Given the description of an element on the screen output the (x, y) to click on. 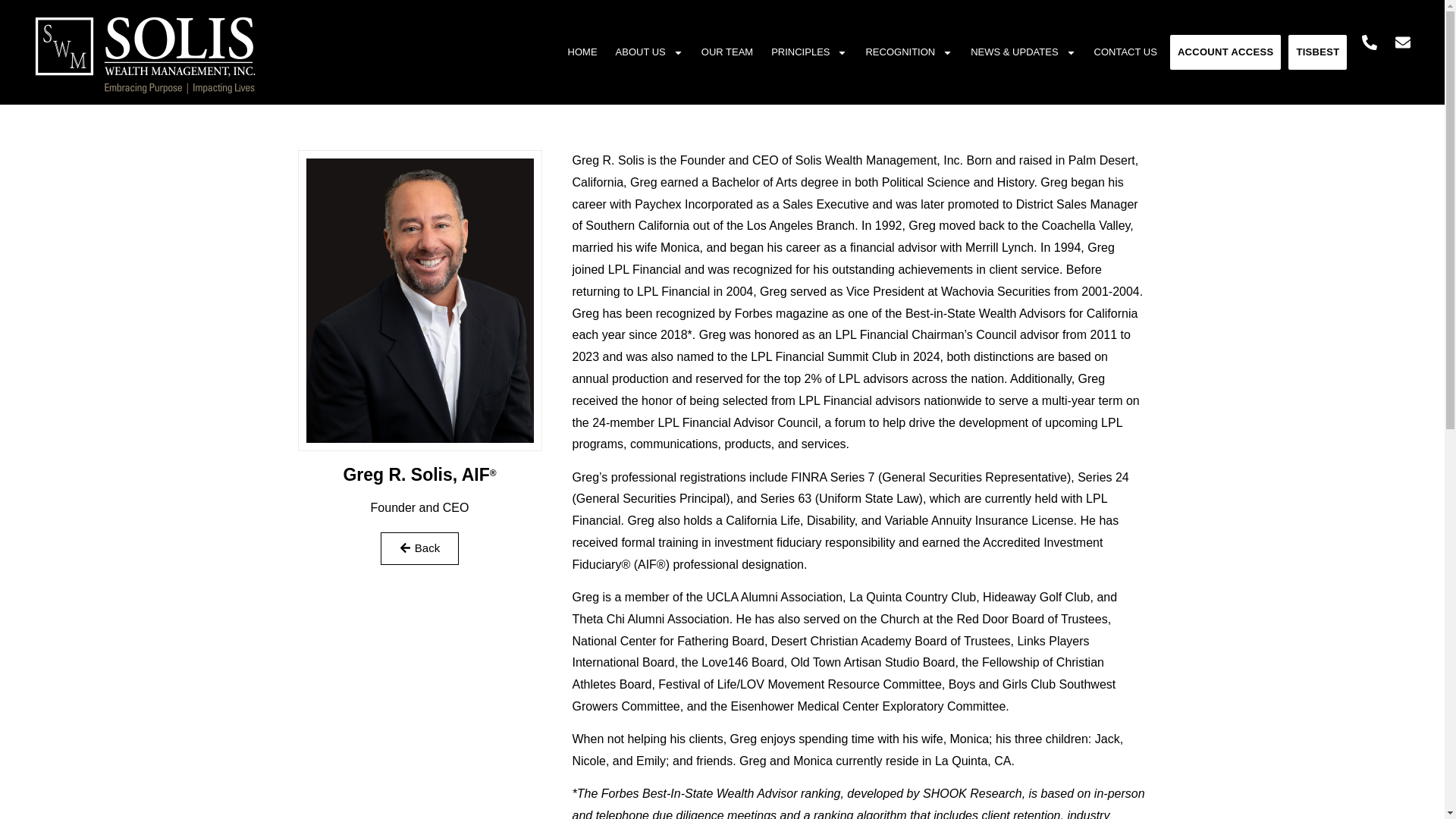
PRINCIPLES (808, 52)
TISBEST (1317, 52)
ACCOUNT ACCESS (1225, 52)
OUR TEAM (727, 52)
RECOGNITION (908, 52)
ABOUT US (650, 52)
HOME (583, 52)
CONTACT US (1125, 52)
